Given the description of an element on the screen output the (x, y) to click on. 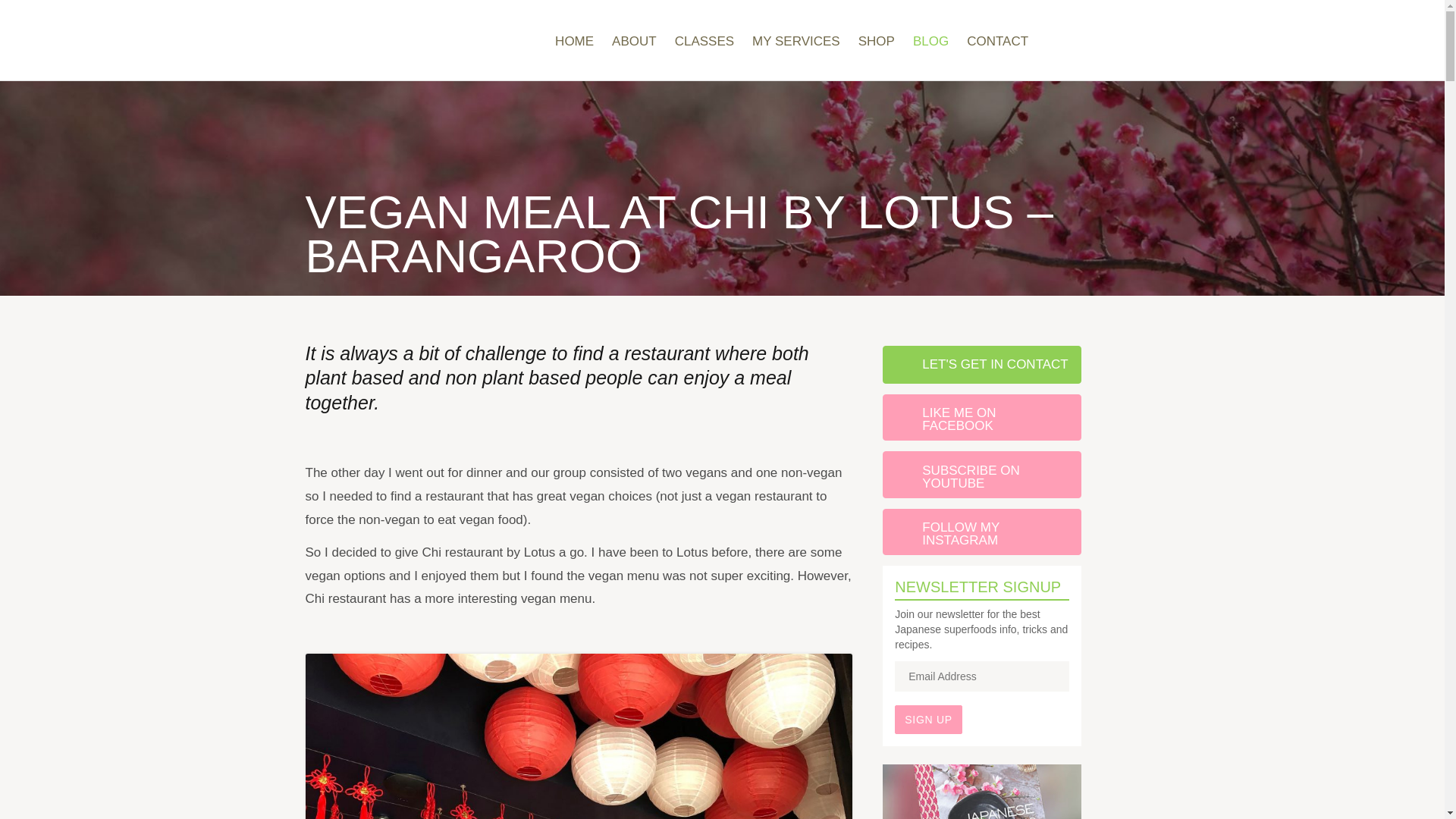
HOME (574, 41)
MY SERVICES (796, 41)
Join me on Facebook! (1051, 45)
CONTACT (996, 41)
Join me on Instagram! (1099, 45)
Sign Up (927, 719)
View on Youtube! (1075, 45)
SHOP (877, 41)
ABOUT (633, 41)
BLOG (930, 41)
CLASSES (704, 41)
